Given the description of an element on the screen output the (x, y) to click on. 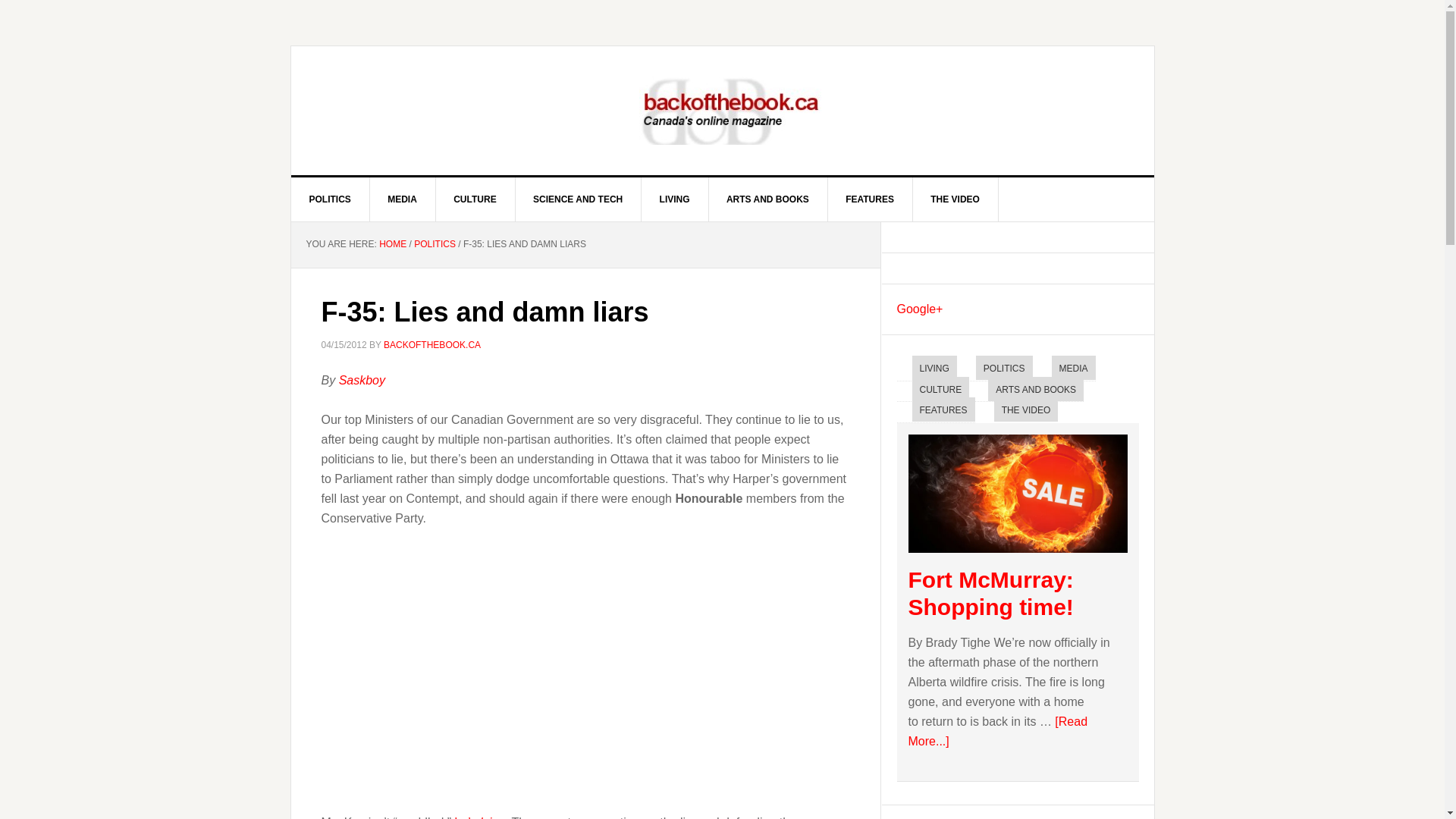
Fort McMurray: Shopping time! (991, 593)
ARTS AND BOOKS (767, 199)
SCIENCE AND TECH (578, 199)
LIVING (675, 199)
BACKOFTHEBOOK.CA (432, 344)
CULTURE (475, 199)
ARTS AND BOOKS (1035, 387)
LIVING (933, 367)
Saskboy (362, 379)
MEDIA (1073, 367)
MEDIA (402, 199)
CULTURE (940, 387)
POLITICS (330, 199)
POLITICS (434, 244)
